Given the description of an element on the screen output the (x, y) to click on. 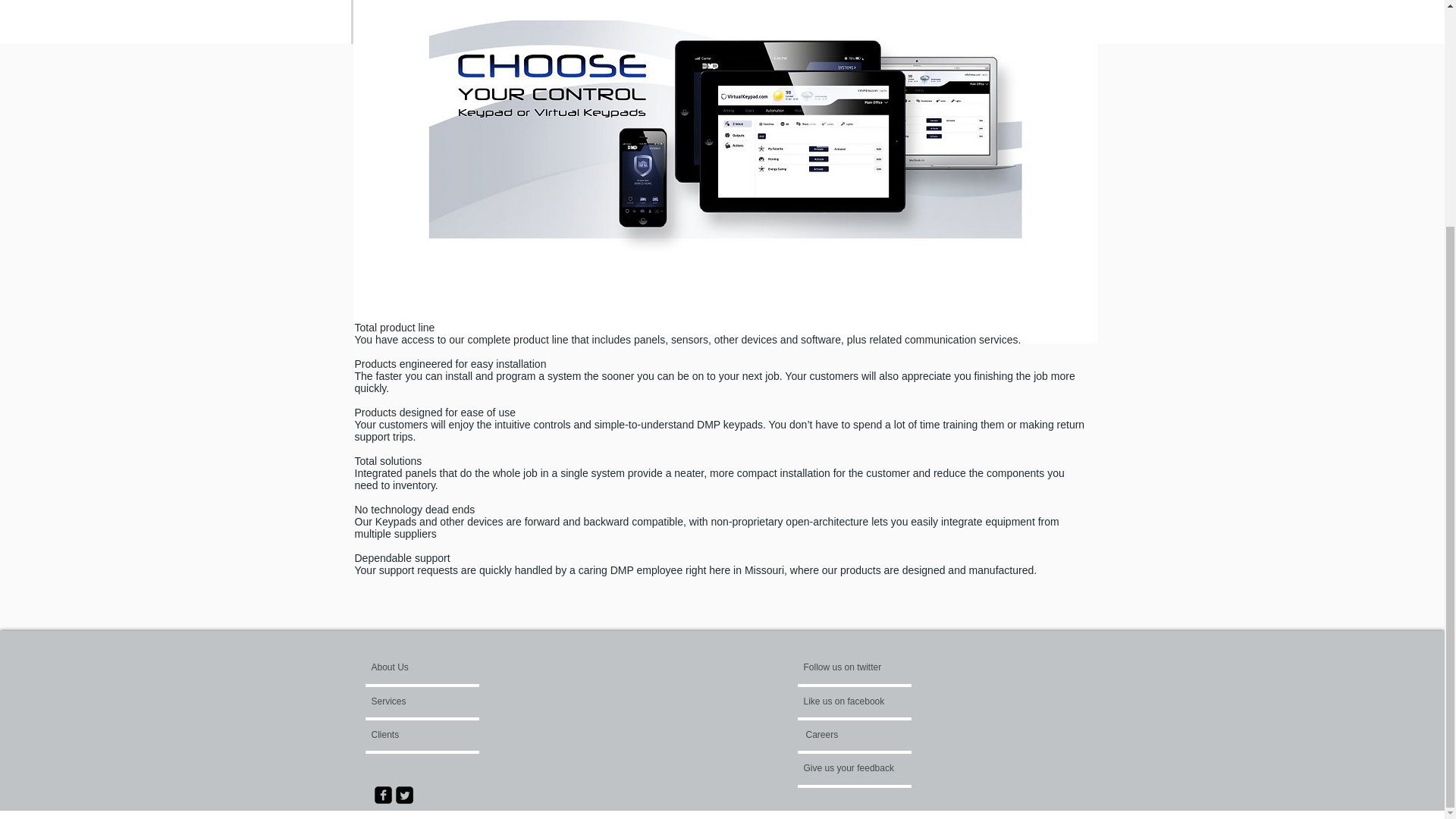
Careers (845, 734)
Like us on facebook (849, 701)
About Us (429, 667)
Services (414, 701)
Follow us on twitter (844, 667)
Give us your feedback (857, 767)
Clients (411, 734)
